Given the description of an element on the screen output the (x, y) to click on. 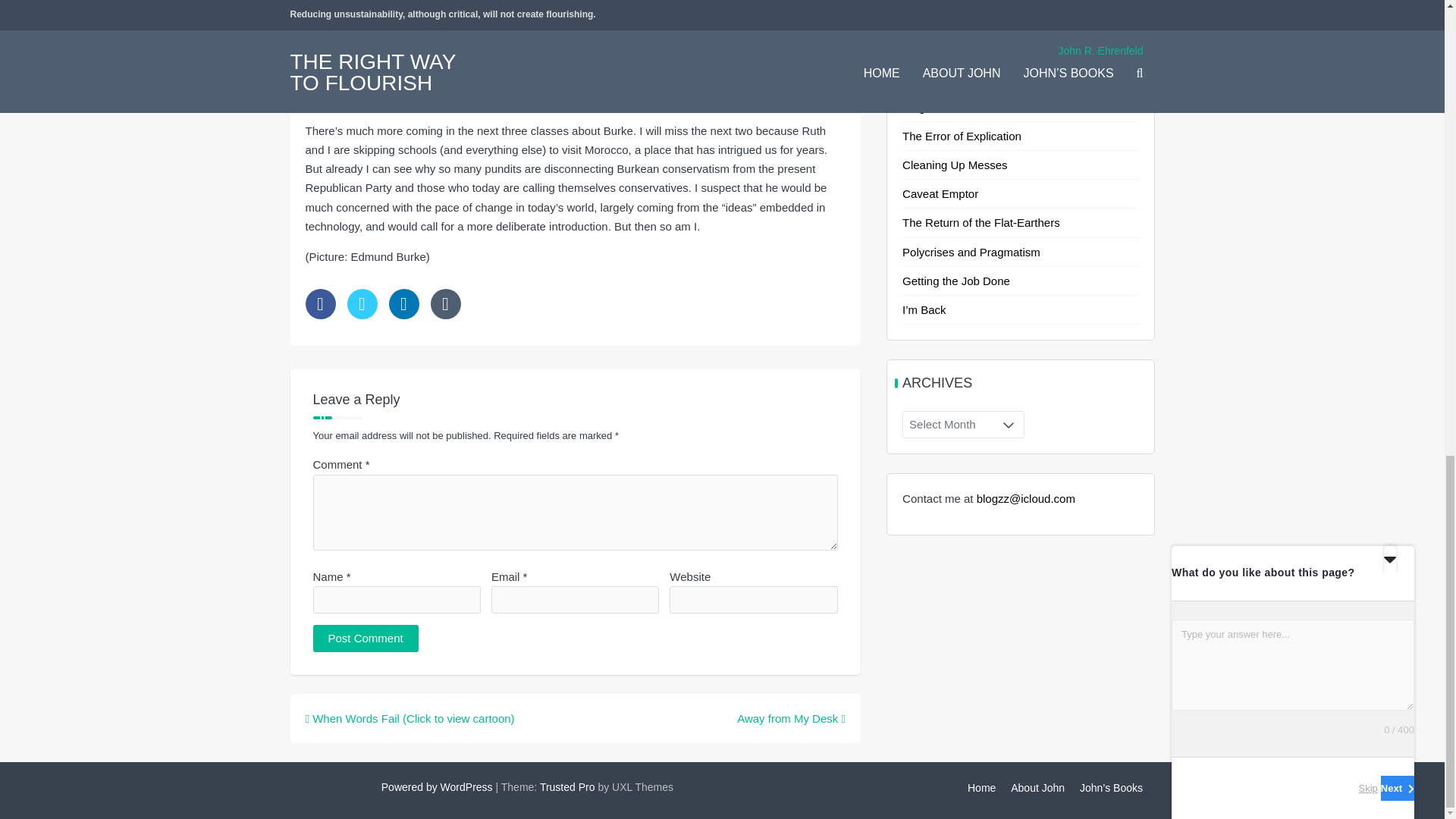
Post Comment (365, 637)
Facebook (319, 304)
The Error of Explication (962, 135)
Linkedin (403, 304)
Email (445, 304)
Caveat Emptor (940, 193)
Getting the Job Done (956, 280)
Cleaning Up Messes (954, 164)
Free Speech Is More than a Libertarian Slogan (1001, 97)
Post Comment (365, 637)
